Given the description of an element on the screen output the (x, y) to click on. 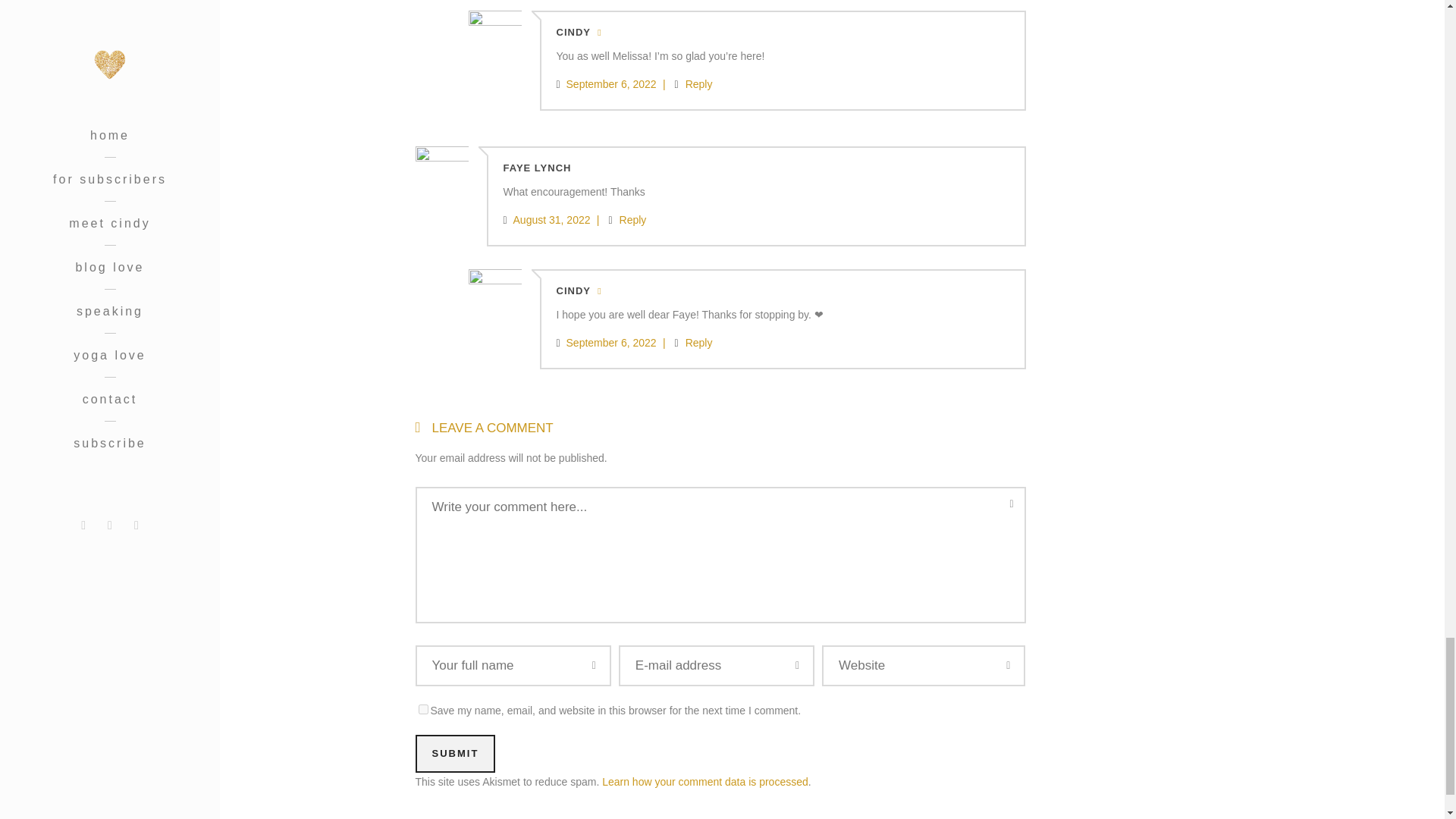
Reply (633, 219)
Submit (455, 753)
Reply (699, 83)
Reply (699, 342)
Submit (455, 753)
yes (423, 709)
Learn how your comment data is processed (705, 781)
